Given the description of an element on the screen output the (x, y) to click on. 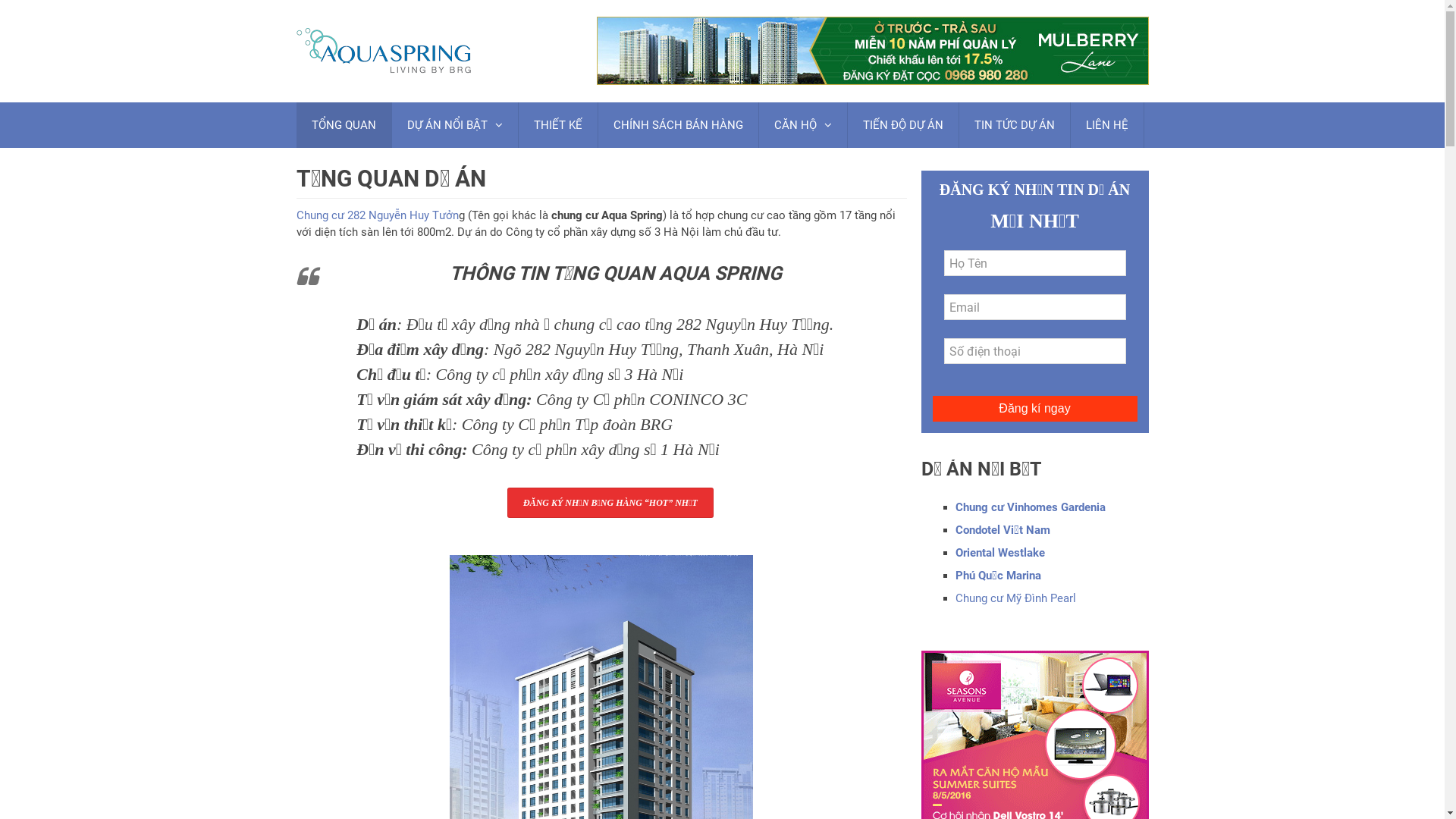
Oriental Westlake Element type: text (999, 552)
